Given the description of an element on the screen output the (x, y) to click on. 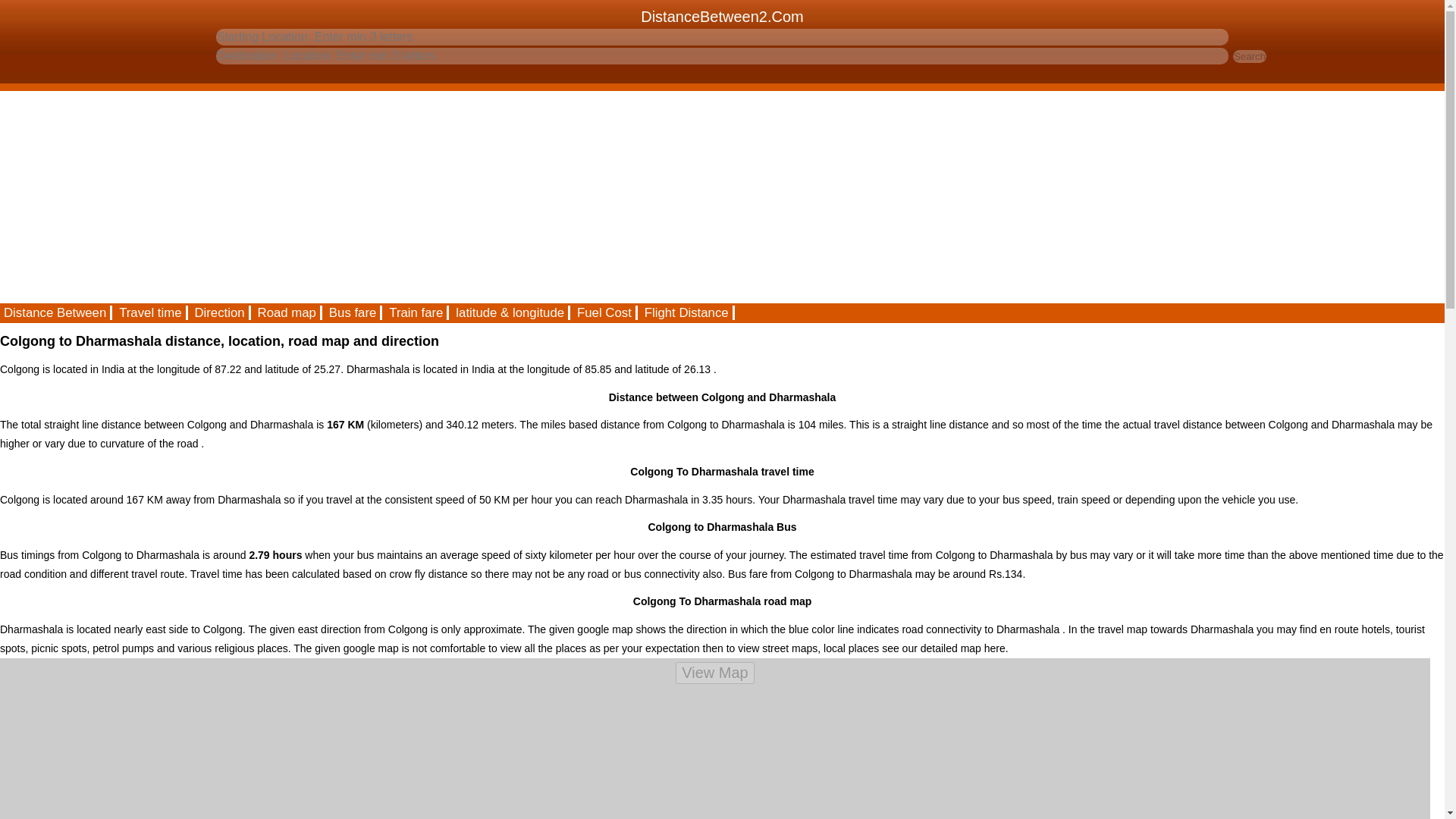
Search (1249, 56)
Fuel Cost (605, 312)
Direction (220, 312)
Train fare (416, 312)
Bus fare (353, 312)
Flight Distance (687, 312)
View Map (714, 672)
Search (1249, 56)
driving direction (220, 312)
Road map (287, 312)
Travel time (151, 312)
Distance Between (56, 312)
